Given the description of an element on the screen output the (x, y) to click on. 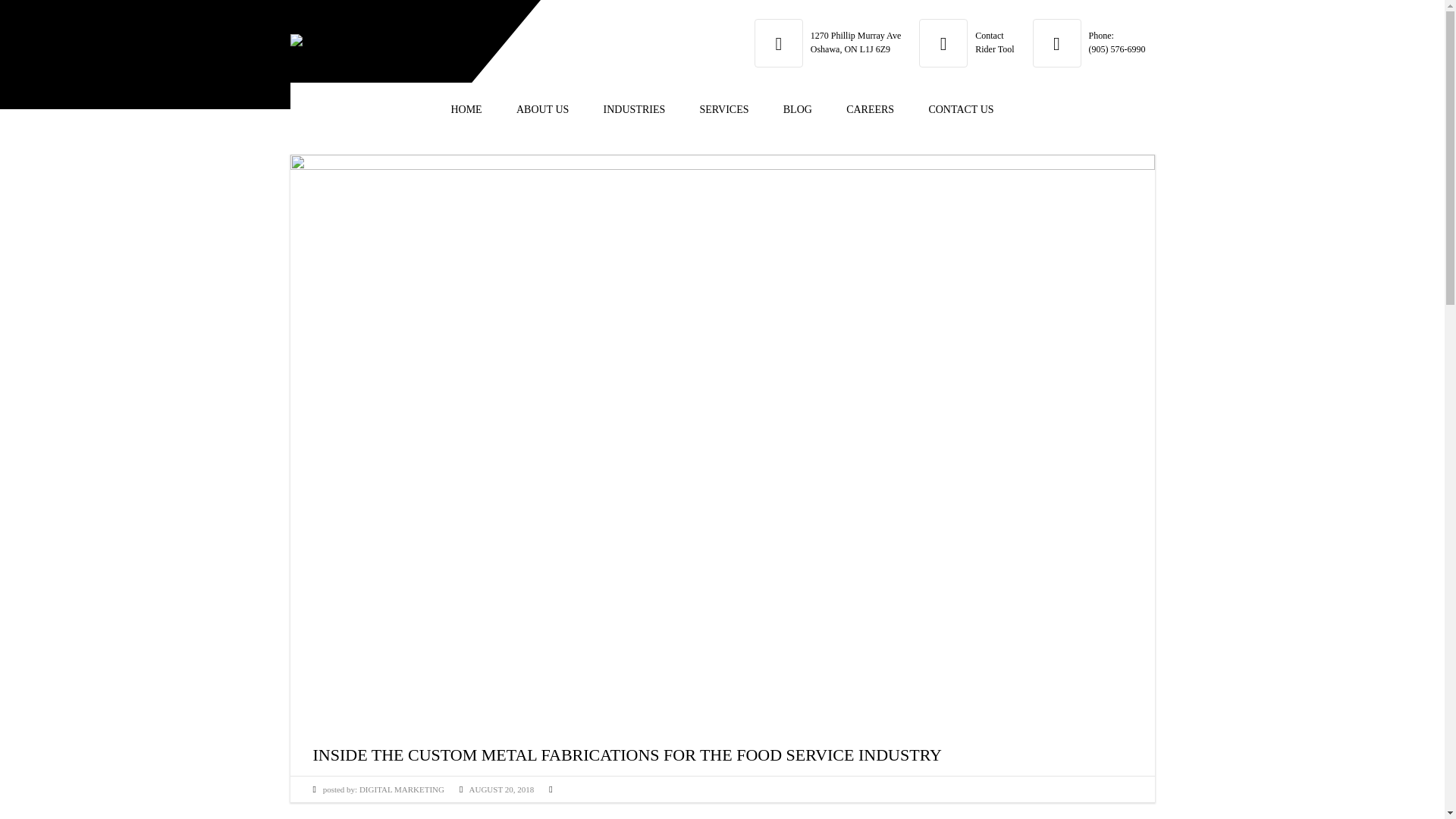
CAREERS (855, 42)
HOME (869, 109)
ABOUT US (465, 109)
CONTACT US (542, 109)
INDUSTRIES (994, 42)
BLOG (960, 109)
SERVICES (634, 109)
